Given the description of an element on the screen output the (x, y) to click on. 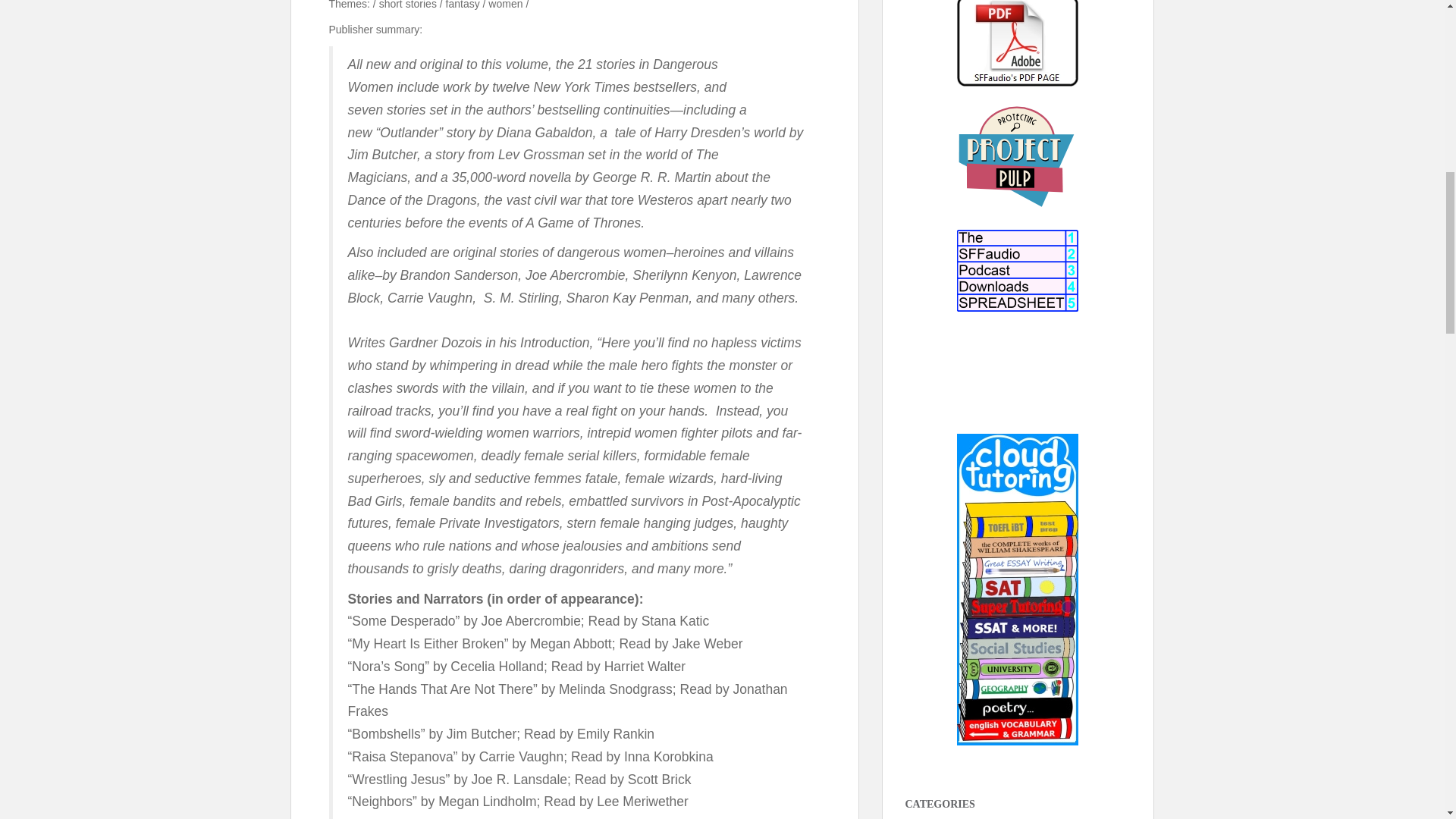
The SFFaudio Podcast Downloads SPREADSHEET (1017, 271)
